Given the description of an element on the screen output the (x, y) to click on. 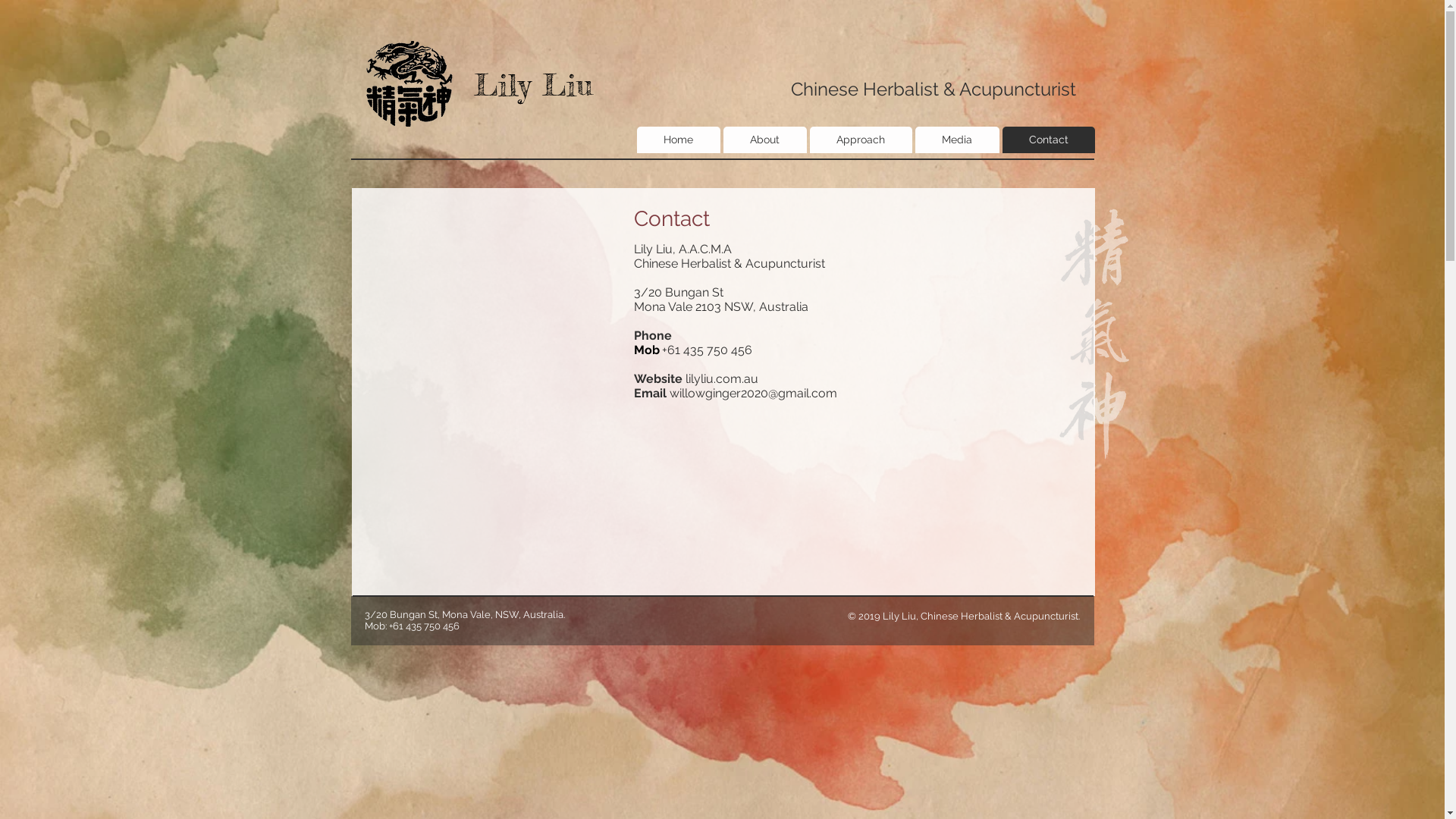
Home Element type: text (678, 139)
Google Maps Element type: hover (482, 310)
Approach Element type: text (860, 139)
About Element type: text (764, 139)
Lilly_Liu_logo.png Element type: hover (408, 83)
Contact Element type: text (1048, 139)
Media Element type: text (956, 139)
willowginger2020@gmail.com Element type: text (752, 392)
Jing_Qi_Shen_5050.png Element type: hover (1093, 333)
